Given the description of an element on the screen output the (x, y) to click on. 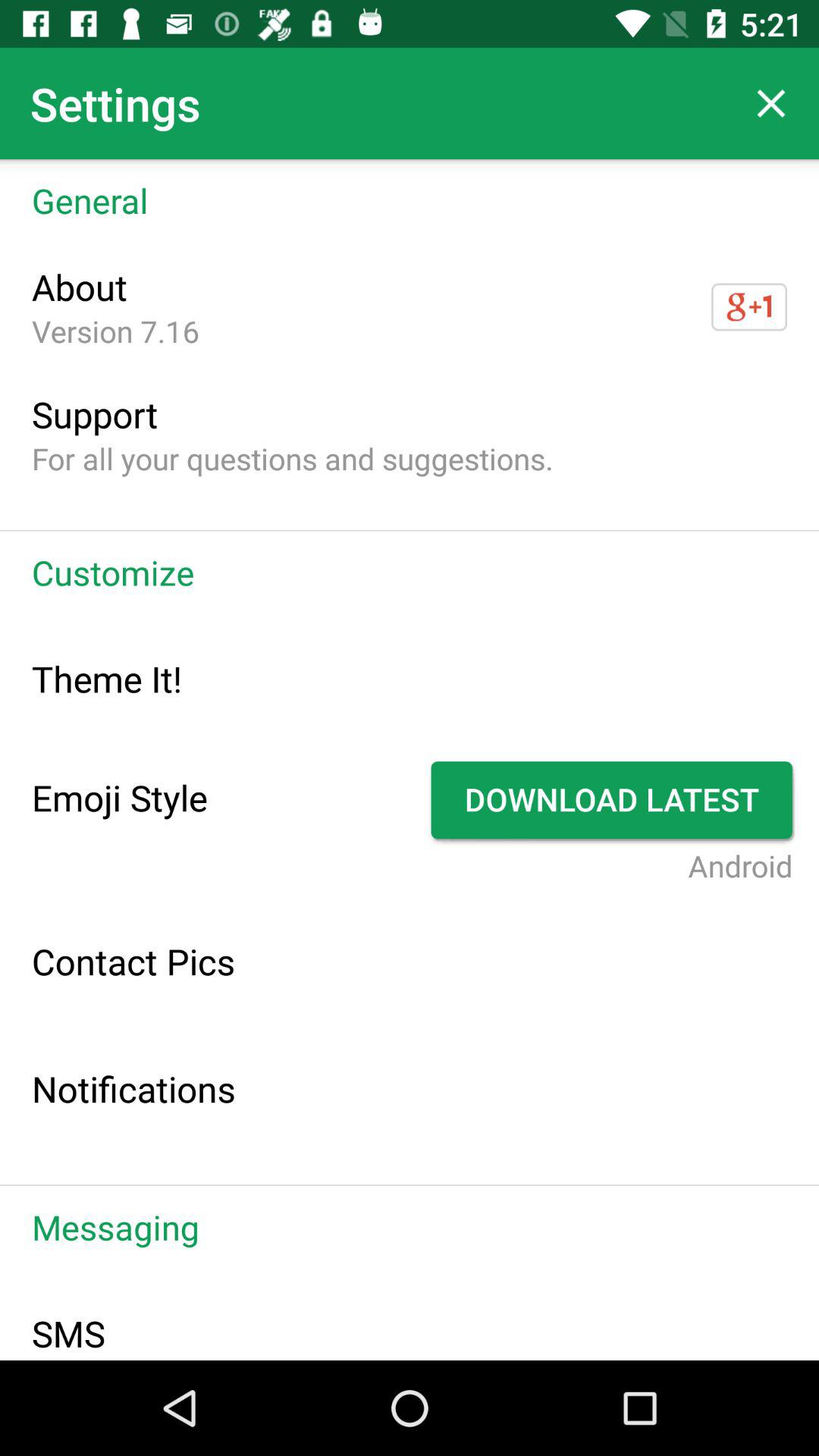
select app next to the emoji style (613, 799)
